Given the description of an element on the screen output the (x, y) to click on. 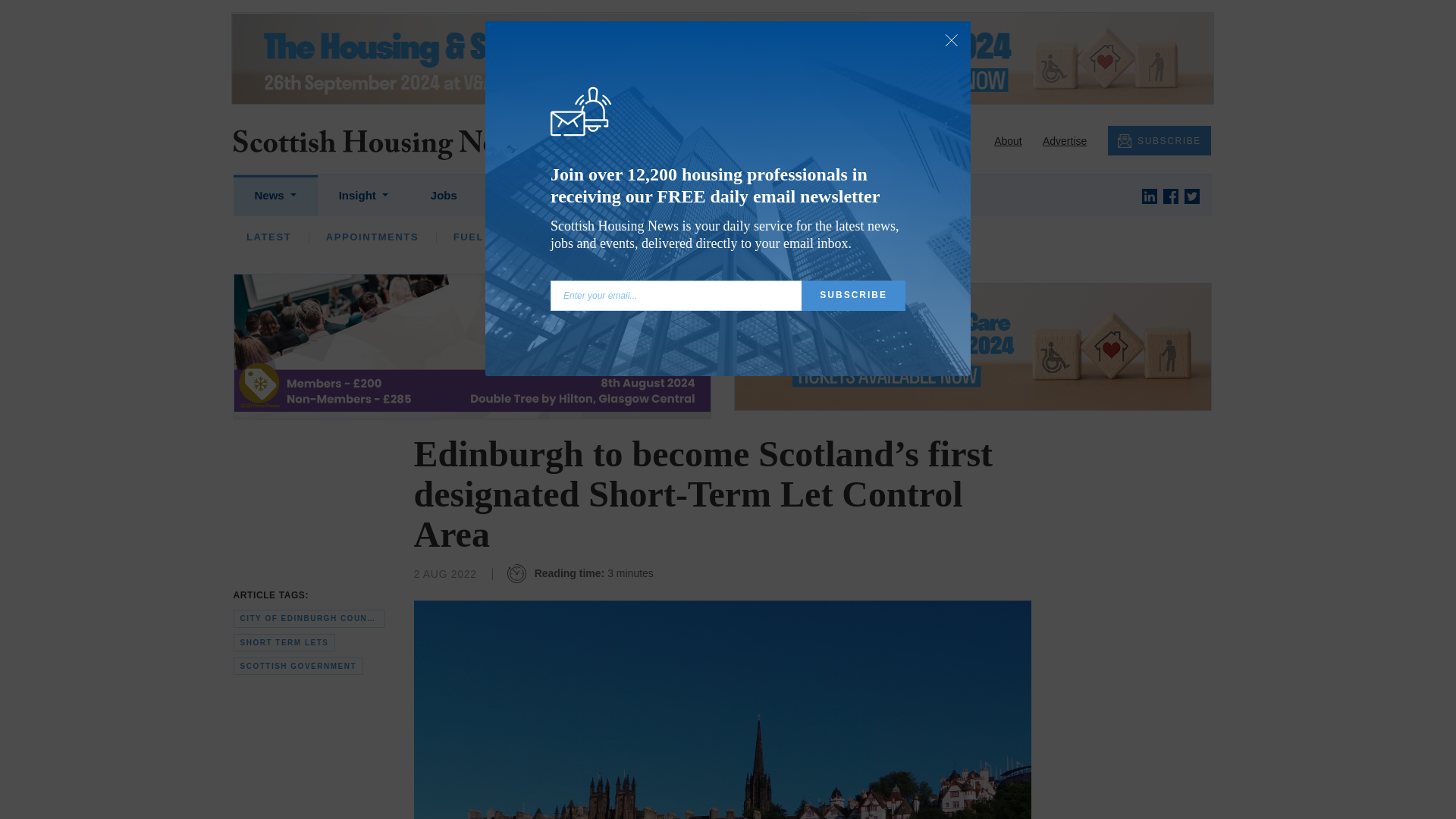
PRS (721, 236)
WELFARE (795, 236)
LATEST (268, 236)
HOUSING CHAMPIONS (582, 236)
OPINION (350, 236)
APPOINTMENTS (372, 236)
Events (518, 196)
News (274, 196)
INTERVIEWS (446, 236)
FUEL POVERTY (497, 236)
Advertise (1064, 141)
SFHA TECH COLUMN (742, 236)
Jobs (444, 196)
HOMELESSNESS (626, 236)
Podcast (601, 196)
